Given the description of an element on the screen output the (x, y) to click on. 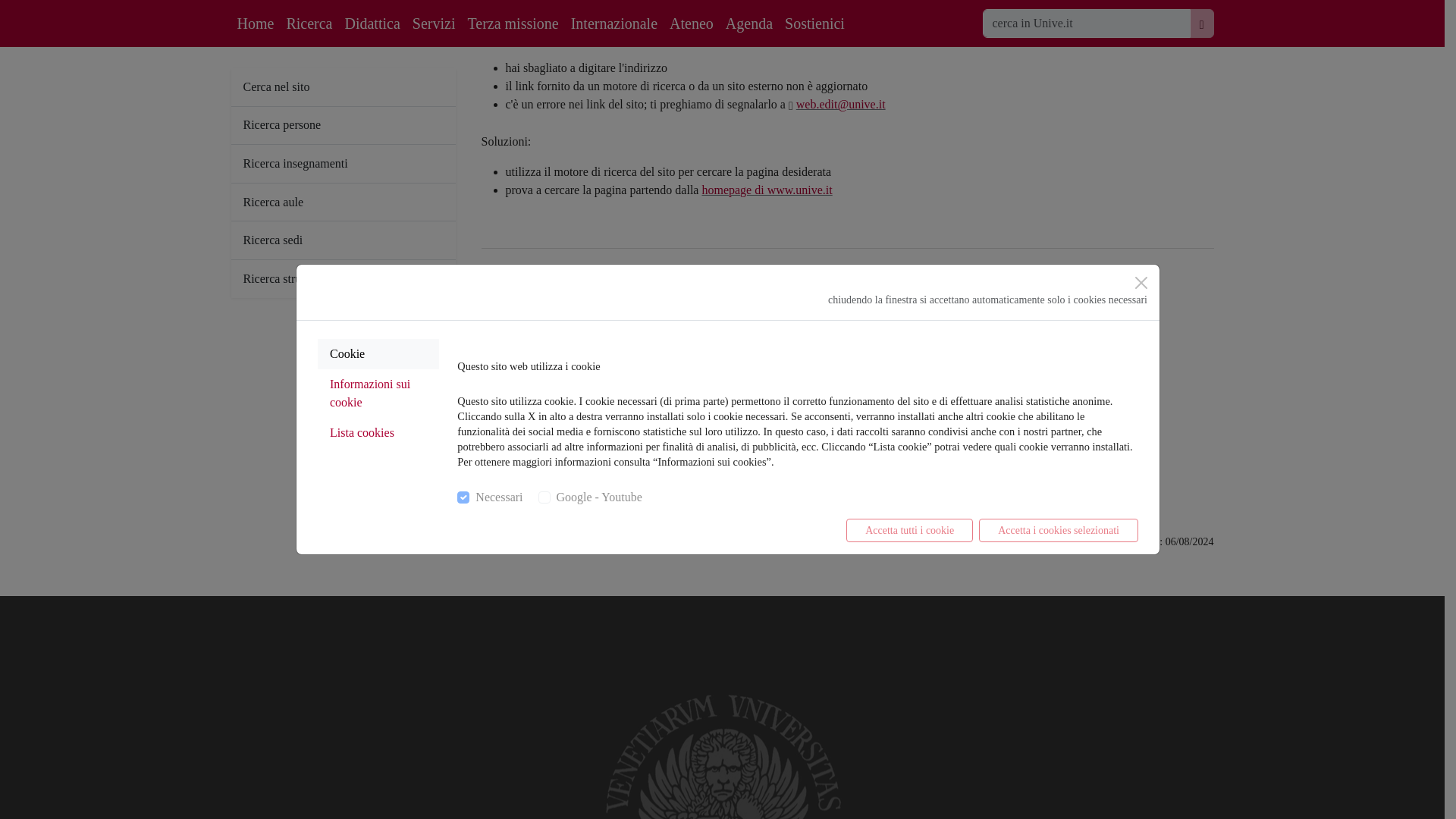
homepage di www.unive.it (766, 189)
option1 (462, 275)
noiframe (544, 275)
